Given the description of an element on the screen output the (x, y) to click on. 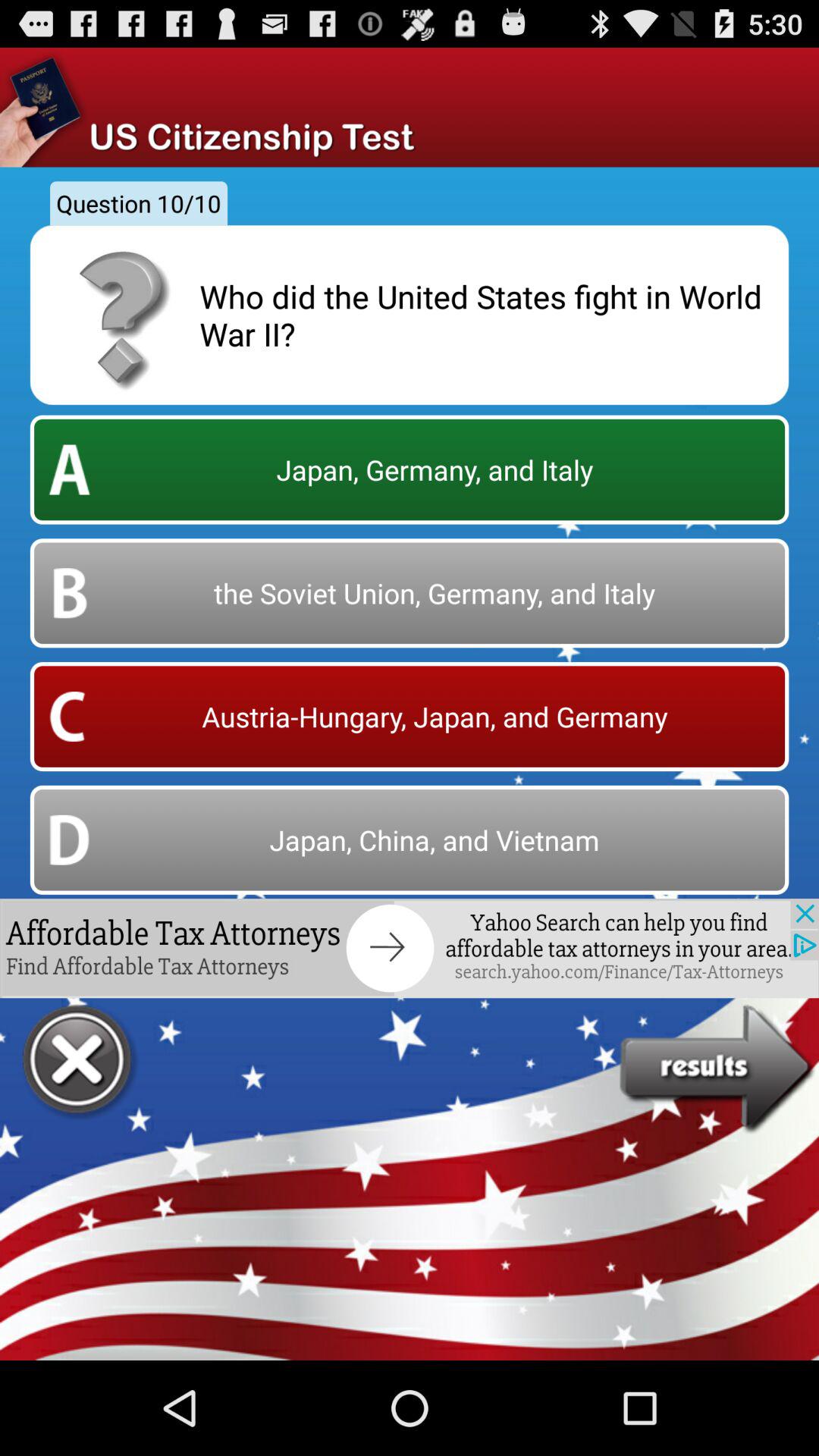
go result (719, 1069)
